Given the description of an element on the screen output the (x, y) to click on. 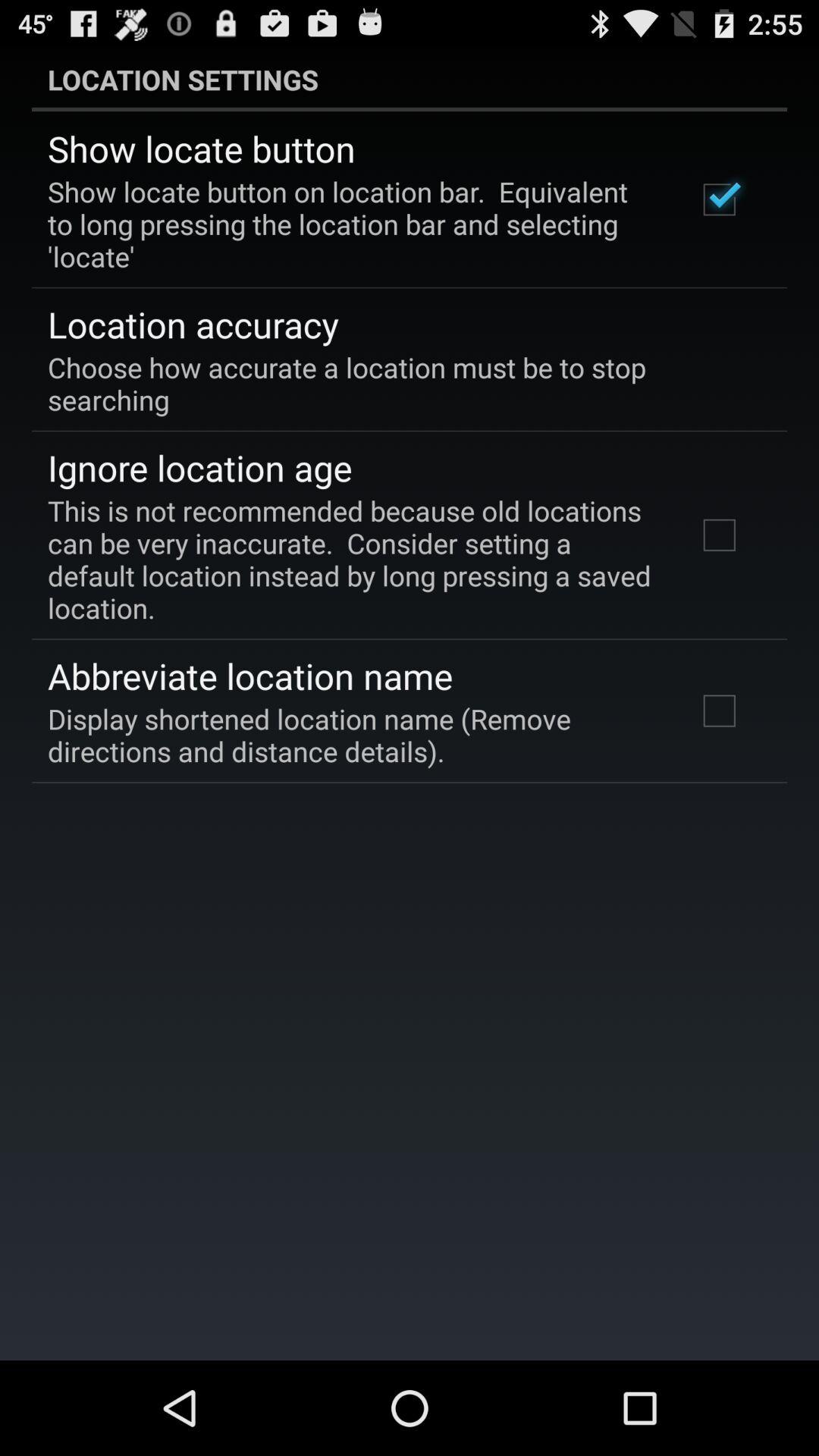
jump to location settings item (409, 79)
